Given the description of an element on the screen output the (x, y) to click on. 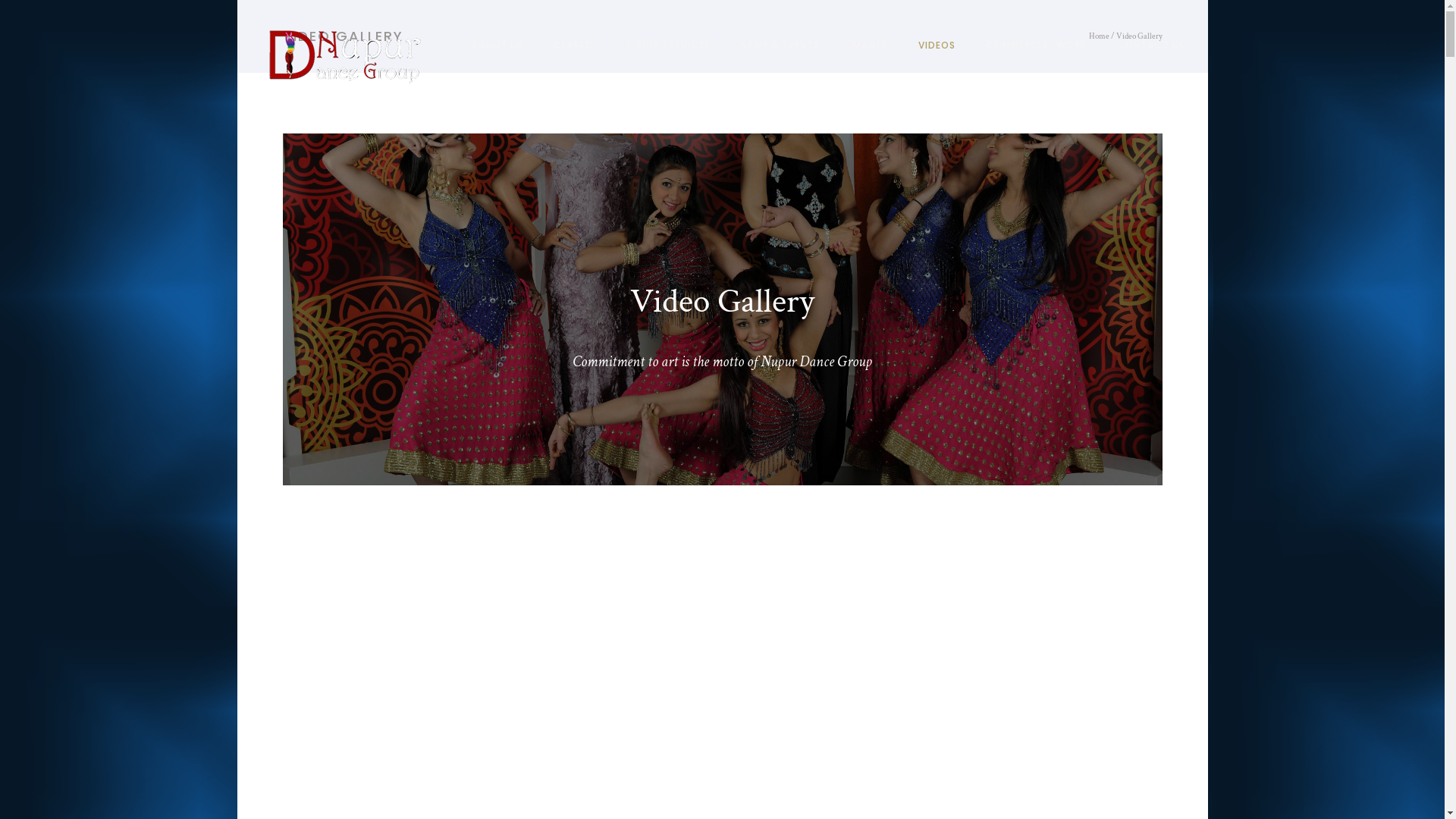
COMMERCIAL WORK Element type: text (1035, 45)
OTHER SERVICES Element type: text (667, 45)
NEWS & EVENTS Element type: text (779, 45)
IMAGES Element type: text (868, 45)
CLASSES Element type: text (574, 45)
CONTACT US Element type: text (1142, 45)
VIDEOS Element type: text (935, 45)
Home Element type: text (1098, 36)
ABOUT US Element type: text (497, 45)
Video Gallery Element type: text (1139, 36)
